Given the description of an element on the screen output the (x, y) to click on. 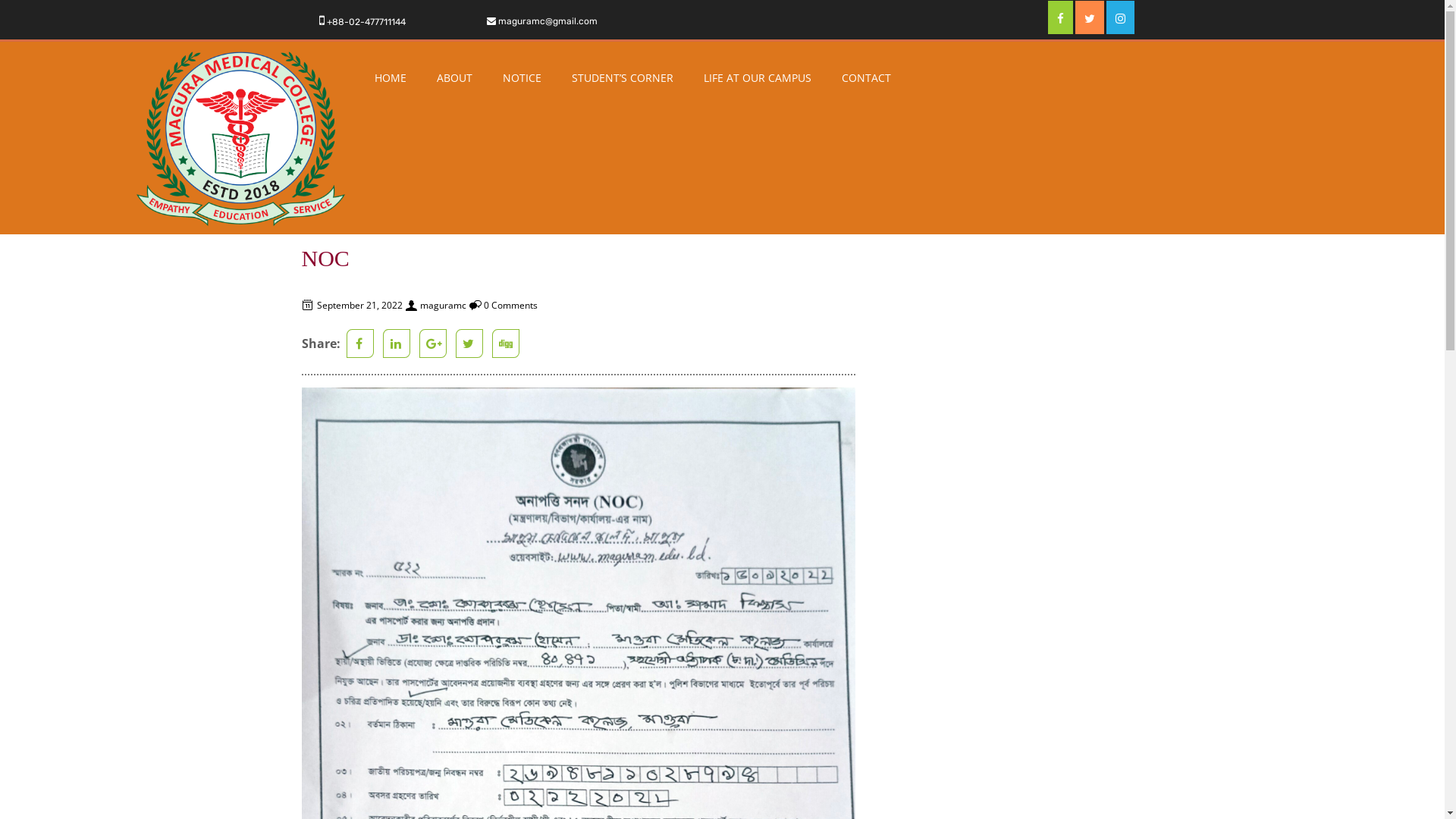
HOME Element type: text (390, 77)
LIFE AT OUR CAMPUS Element type: text (757, 77)
maguramc Element type: text (443, 304)
ABOUT Element type: text (454, 77)
NOTICE Element type: text (522, 77)
CONTACT Element type: text (866, 77)
maguramc@gmail.com Element type: text (547, 20)
